Given the description of an element on the screen output the (x, y) to click on. 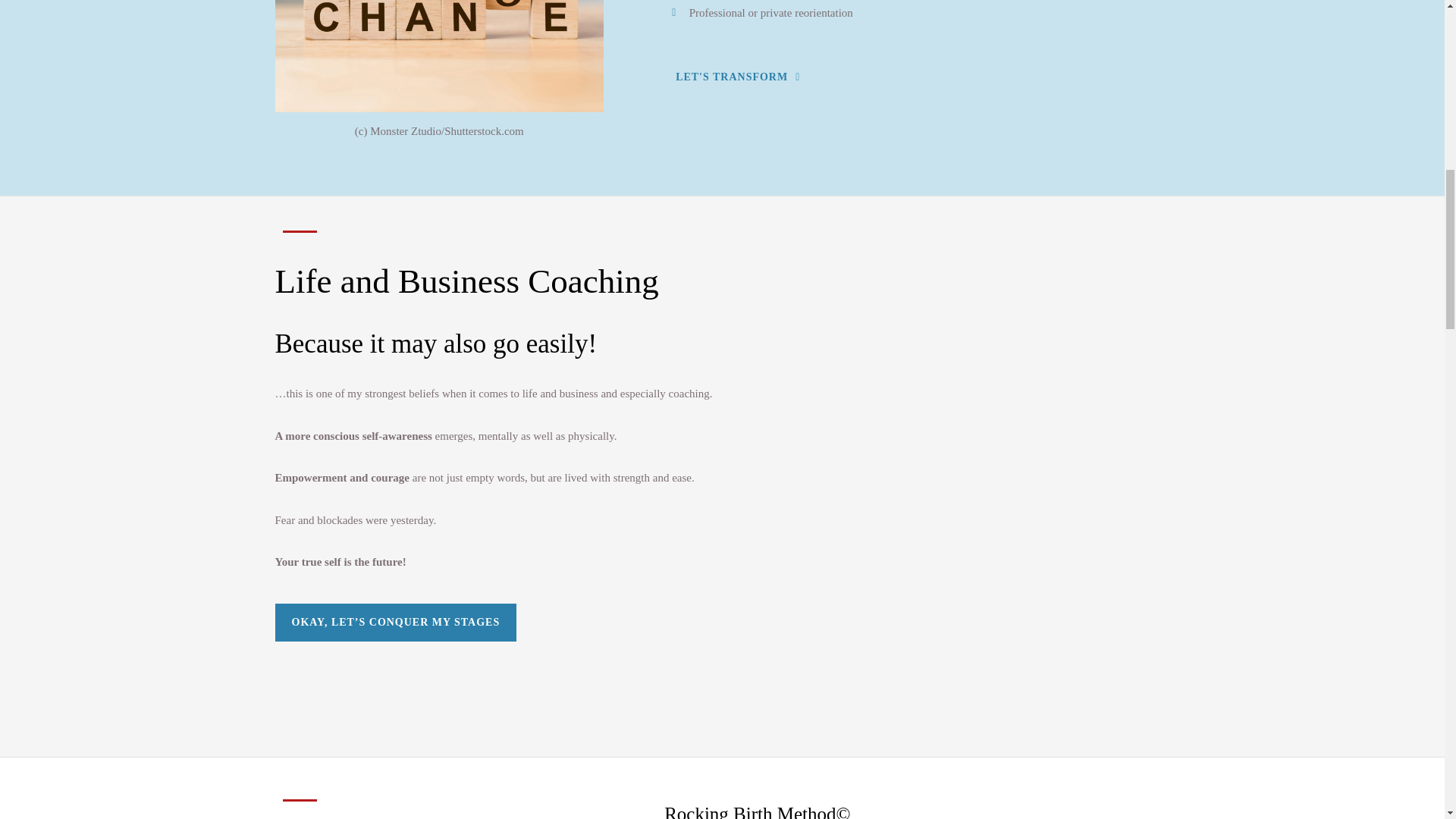
LET'S TRANSFORM (736, 77)
